Given the description of an element on the screen output the (x, y) to click on. 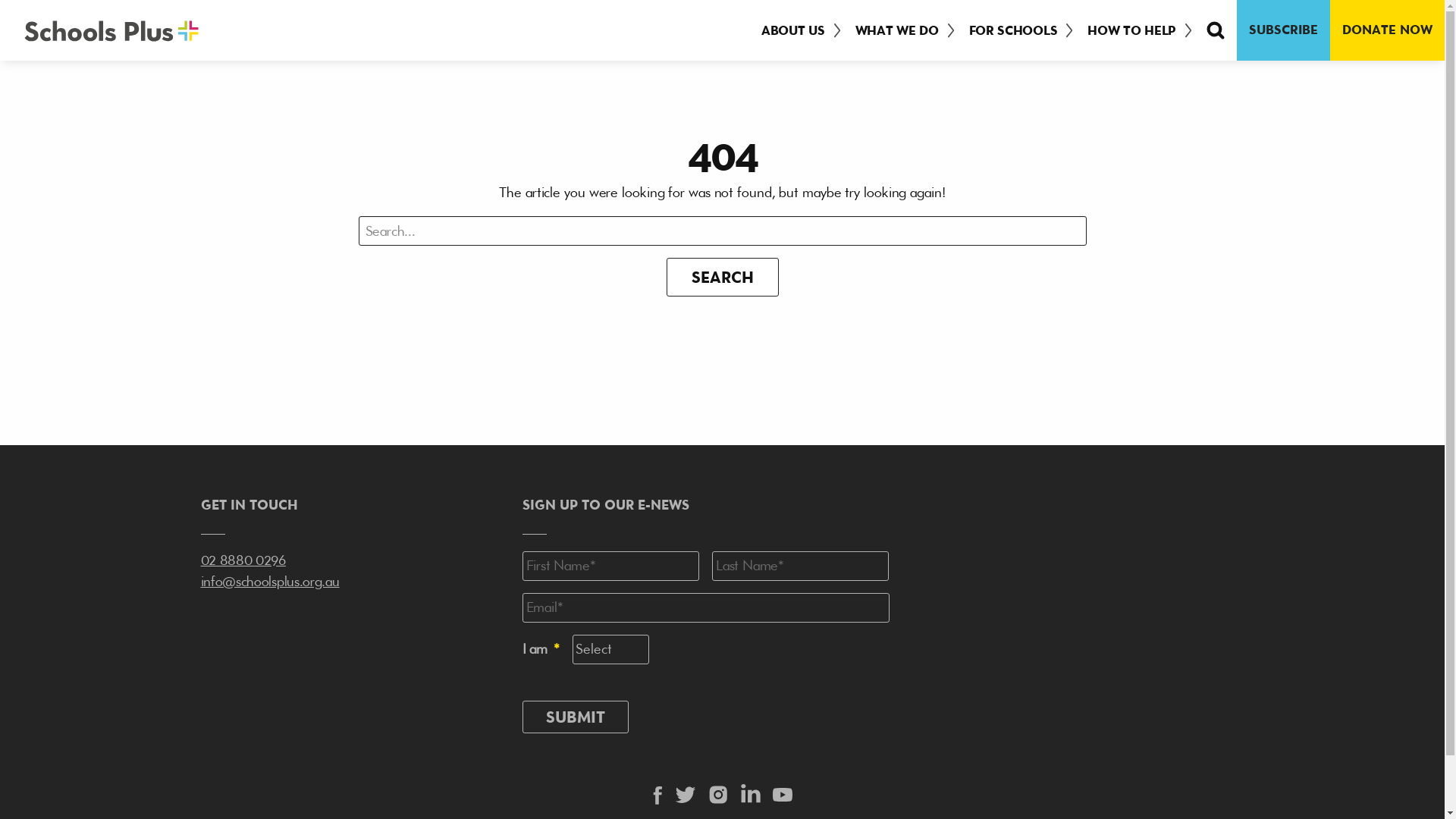
SUBSCRIBE Element type: text (1283, 30)
info@schoolsplus.org.au Element type: text (269, 580)
Submit Element type: text (574, 716)
ABOUT US Element type: text (796, 30)
FOR SCHOOLS Element type: text (1016, 30)
DONATE NOW Element type: text (1387, 30)
02 8880 0296 Element type: text (242, 559)
Search for: Element type: hover (721, 230)
WHAT WE DO Element type: text (900, 30)
Search Element type: text (721, 276)
HOW TO HELP Element type: text (1134, 30)
